Given the description of an element on the screen output the (x, y) to click on. 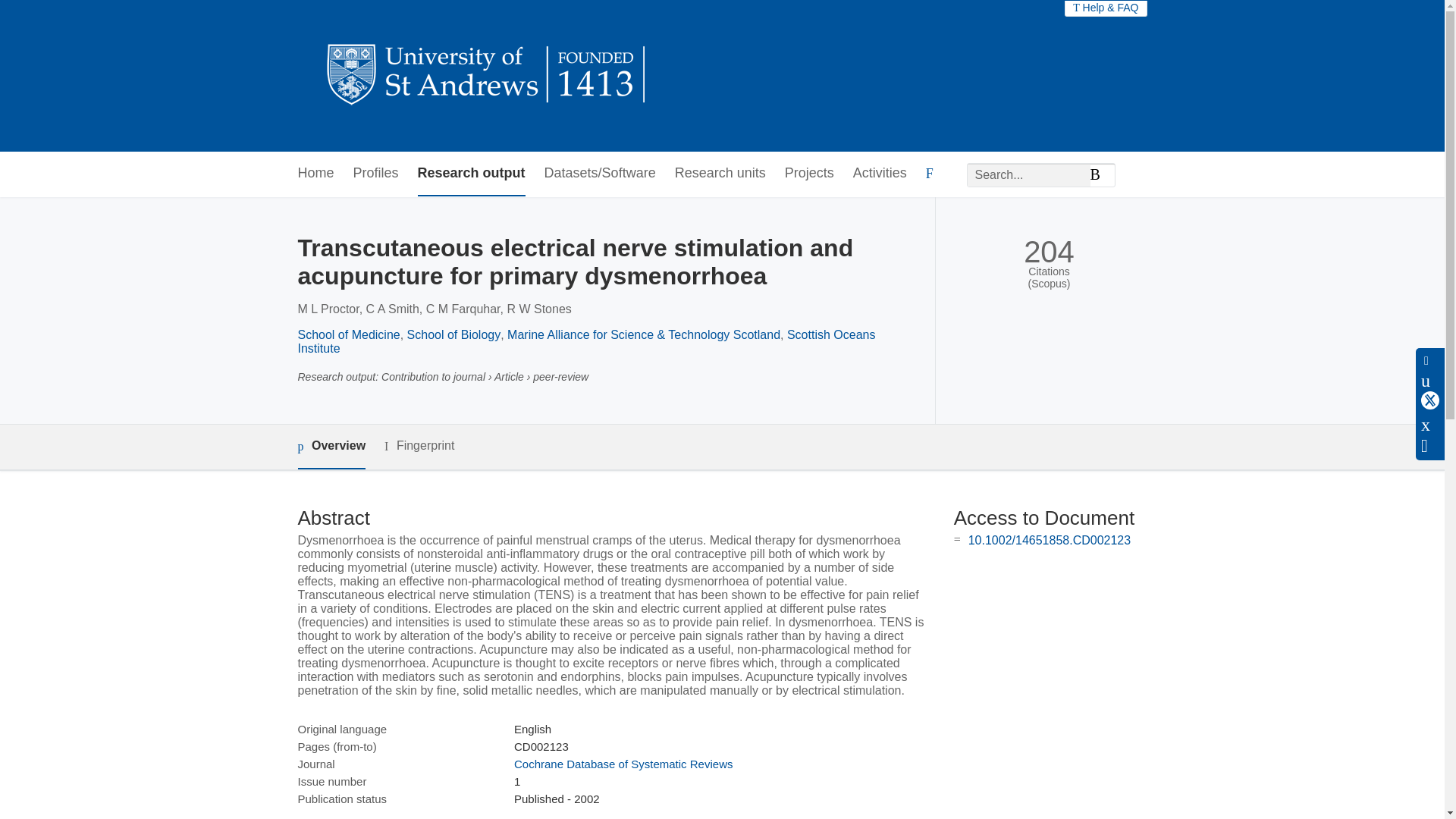
Research units (720, 173)
Profiles (375, 173)
Activities (880, 173)
School of Medicine (347, 334)
Projects (809, 173)
Overview (331, 447)
University of St Andrews Research Portal Home (487, 75)
Cochrane Database of Systematic Reviews (622, 763)
Scottish Oceans Institute (586, 341)
Research output (471, 173)
Fingerprint (419, 446)
School of Biology (453, 334)
